Given the description of an element on the screen output the (x, y) to click on. 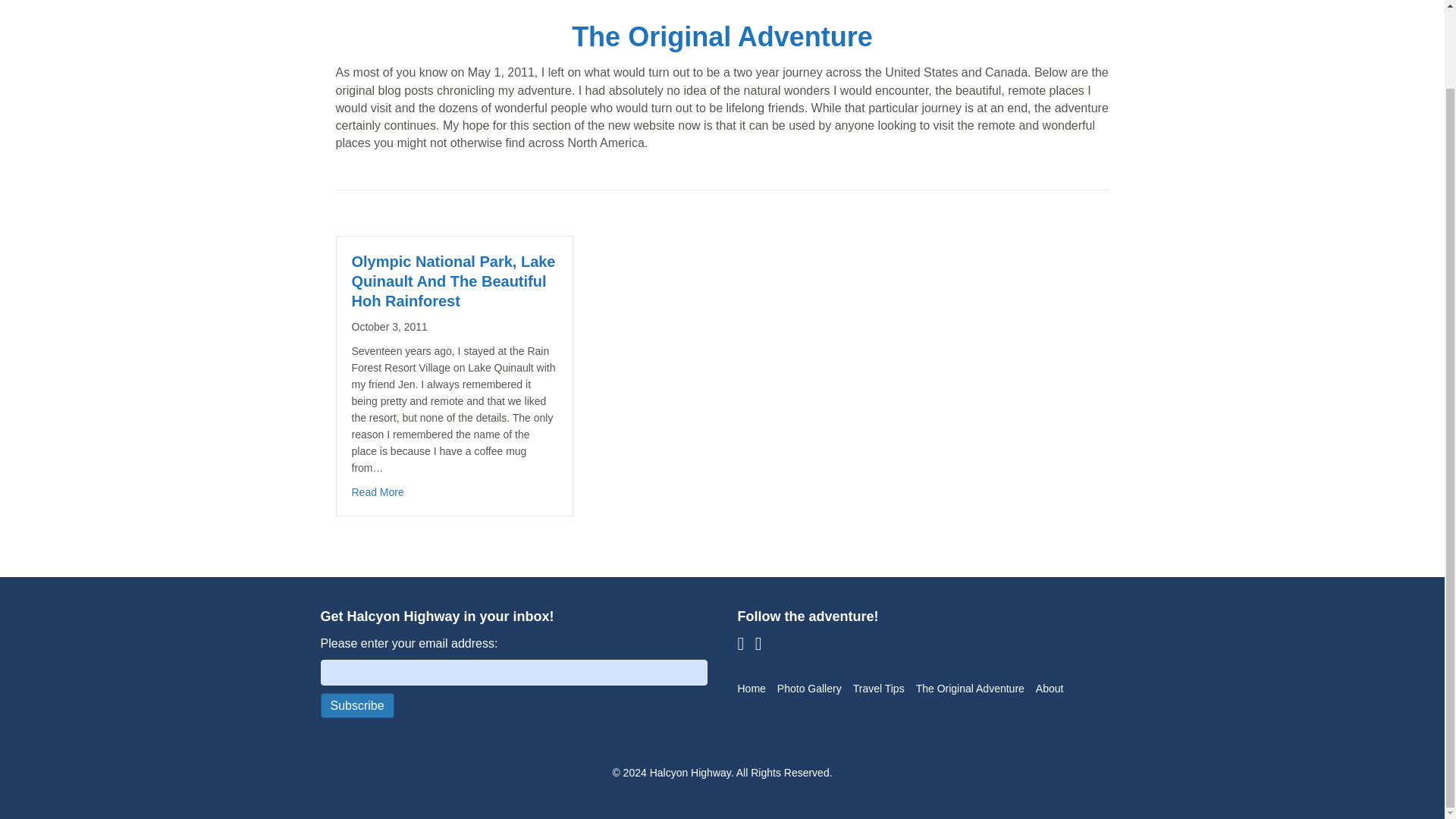
Photo Gallery (814, 688)
Home (756, 688)
Travel Tips (884, 688)
Read More (378, 492)
The Original Adventure (975, 688)
About (1054, 688)
Subscribe (356, 705)
Subscribe (356, 705)
